Given the description of an element on the screen output the (x, y) to click on. 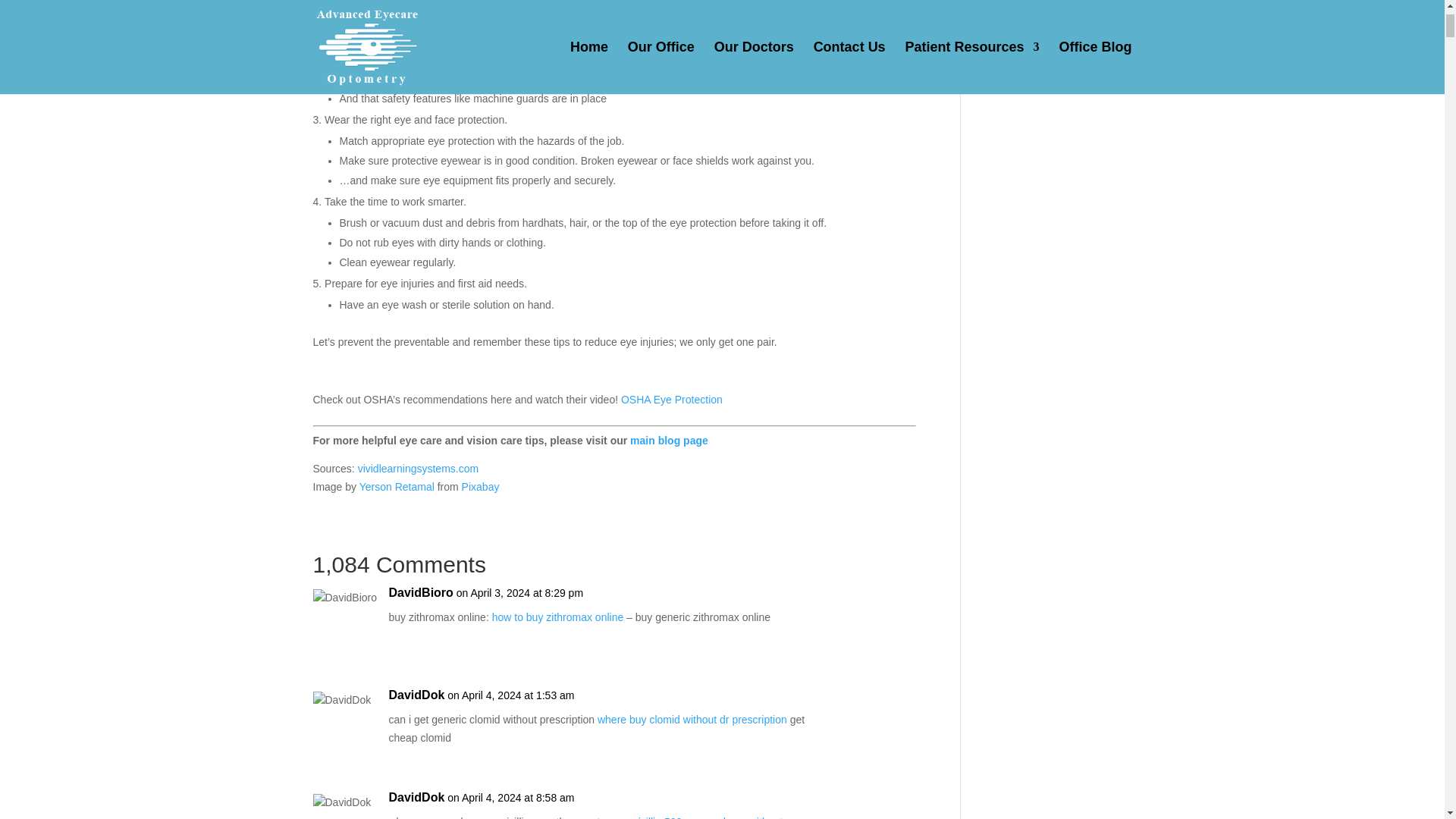
Yerson Retamal (396, 486)
where buy clomid without dr prescription (691, 719)
main blog page (668, 440)
how to buy zithromax online (558, 616)
OSHA Eye Protection (671, 399)
vividlearningsystems.com (418, 468)
Pixabay (480, 486)
